Given the description of an element on the screen output the (x, y) to click on. 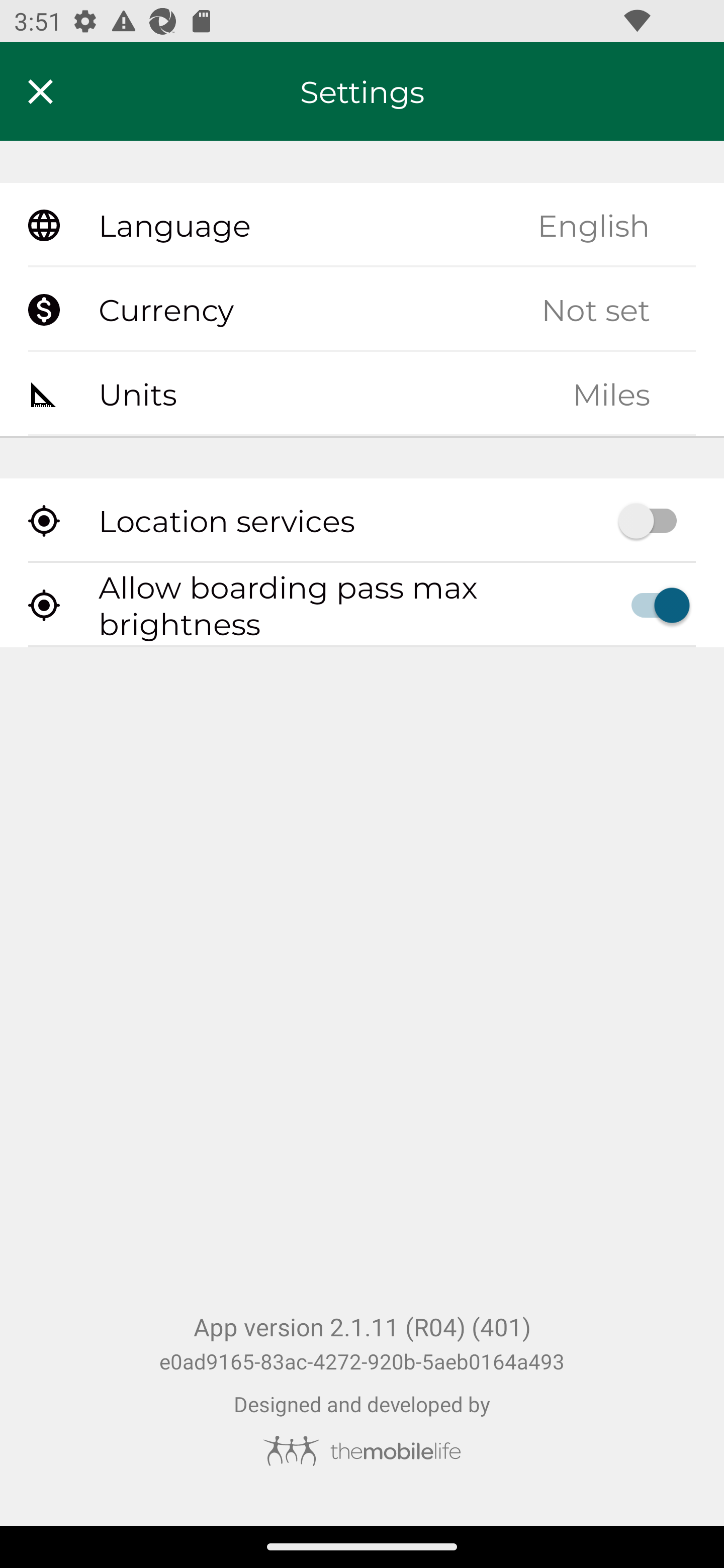
Language English (362, 225)
Currency Not set (362, 309)
Units Miles (362, 393)
Location services (362, 520)
Allow boarding pass max brightness (362, 604)
